Given the description of an element on the screen output the (x, y) to click on. 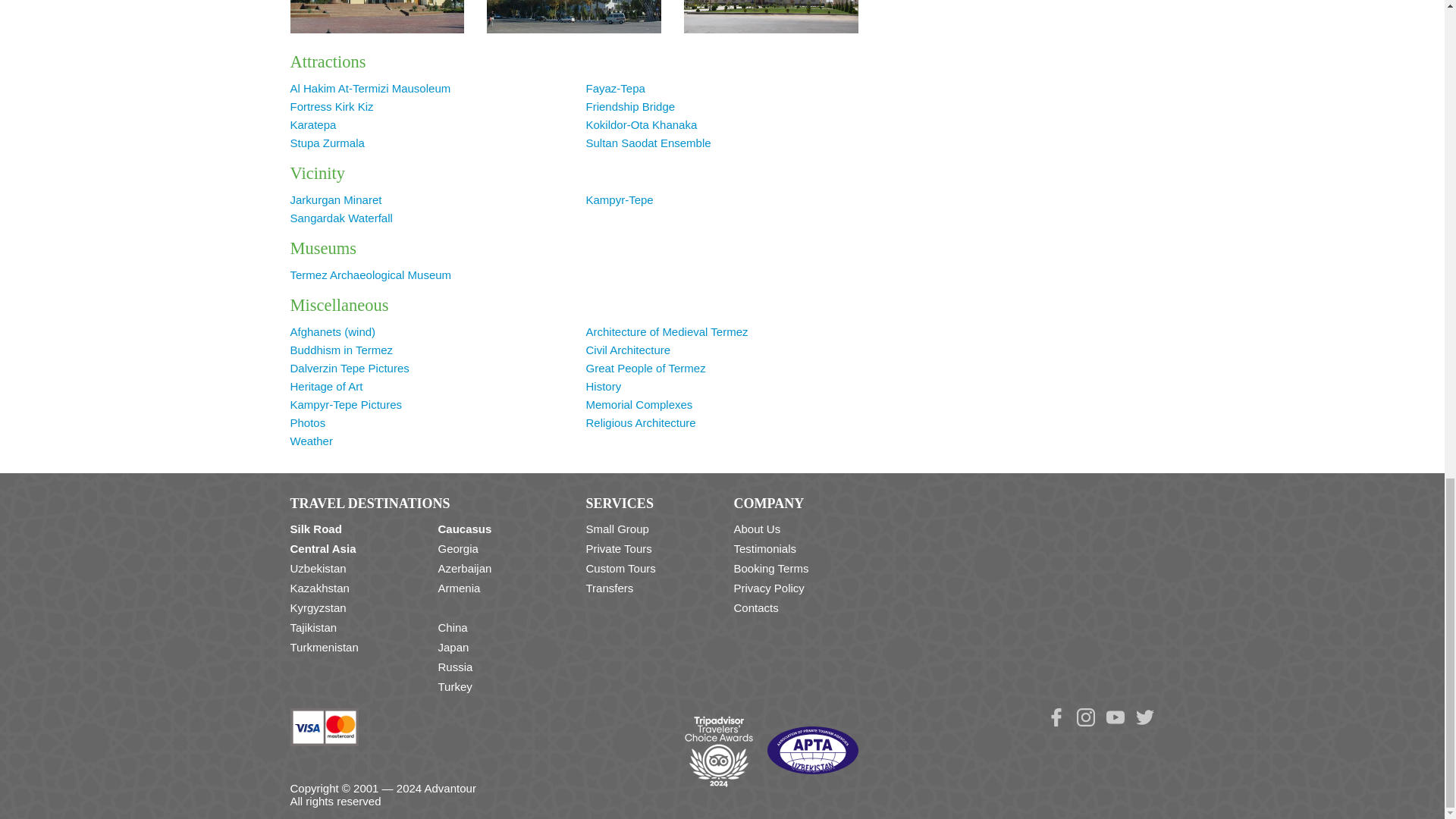
Termez, Uzbekistan (376, 16)
